Given the description of an element on the screen output the (x, y) to click on. 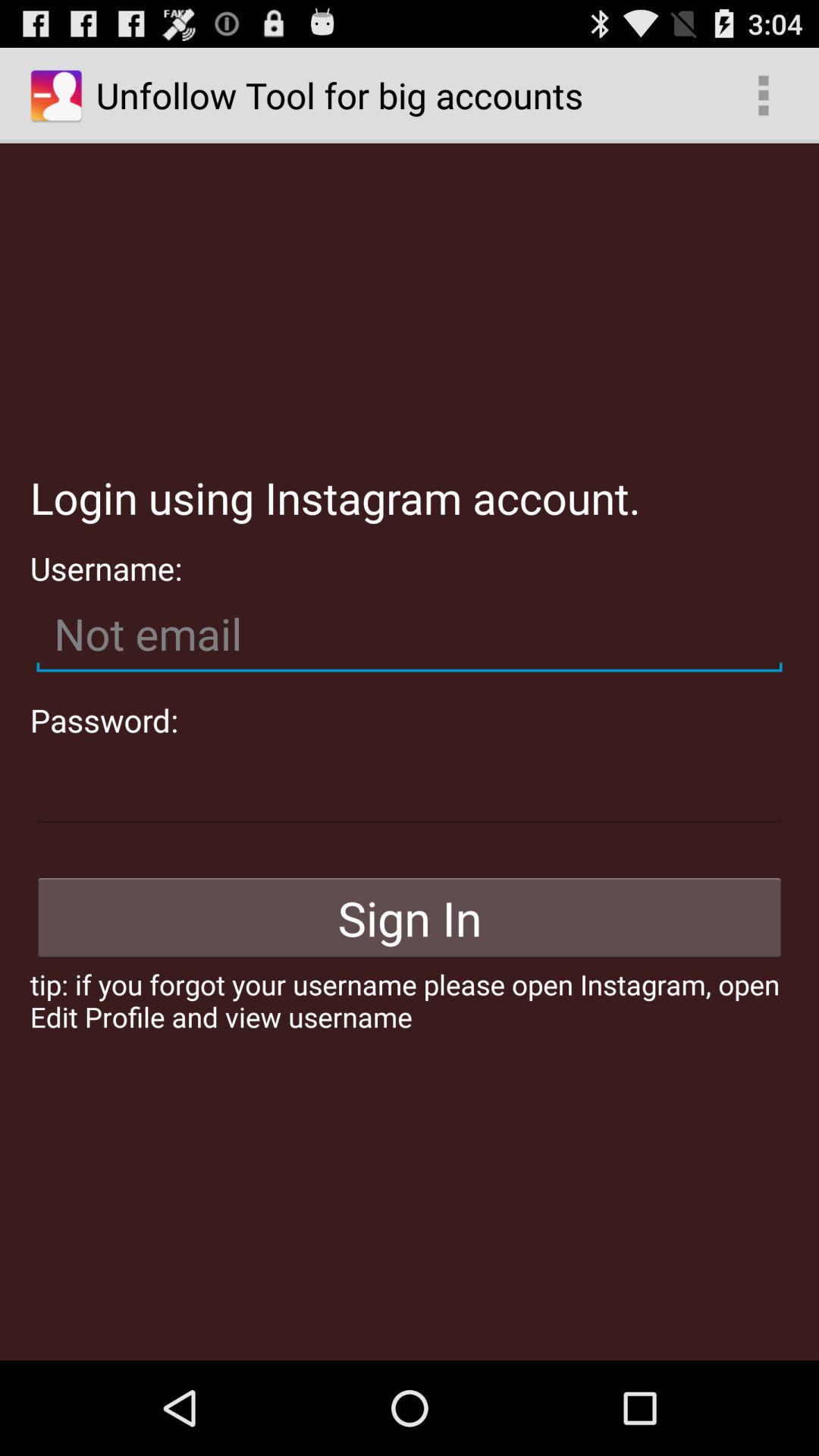
open the sign in button (409, 917)
